Given the description of an element on the screen output the (x, y) to click on. 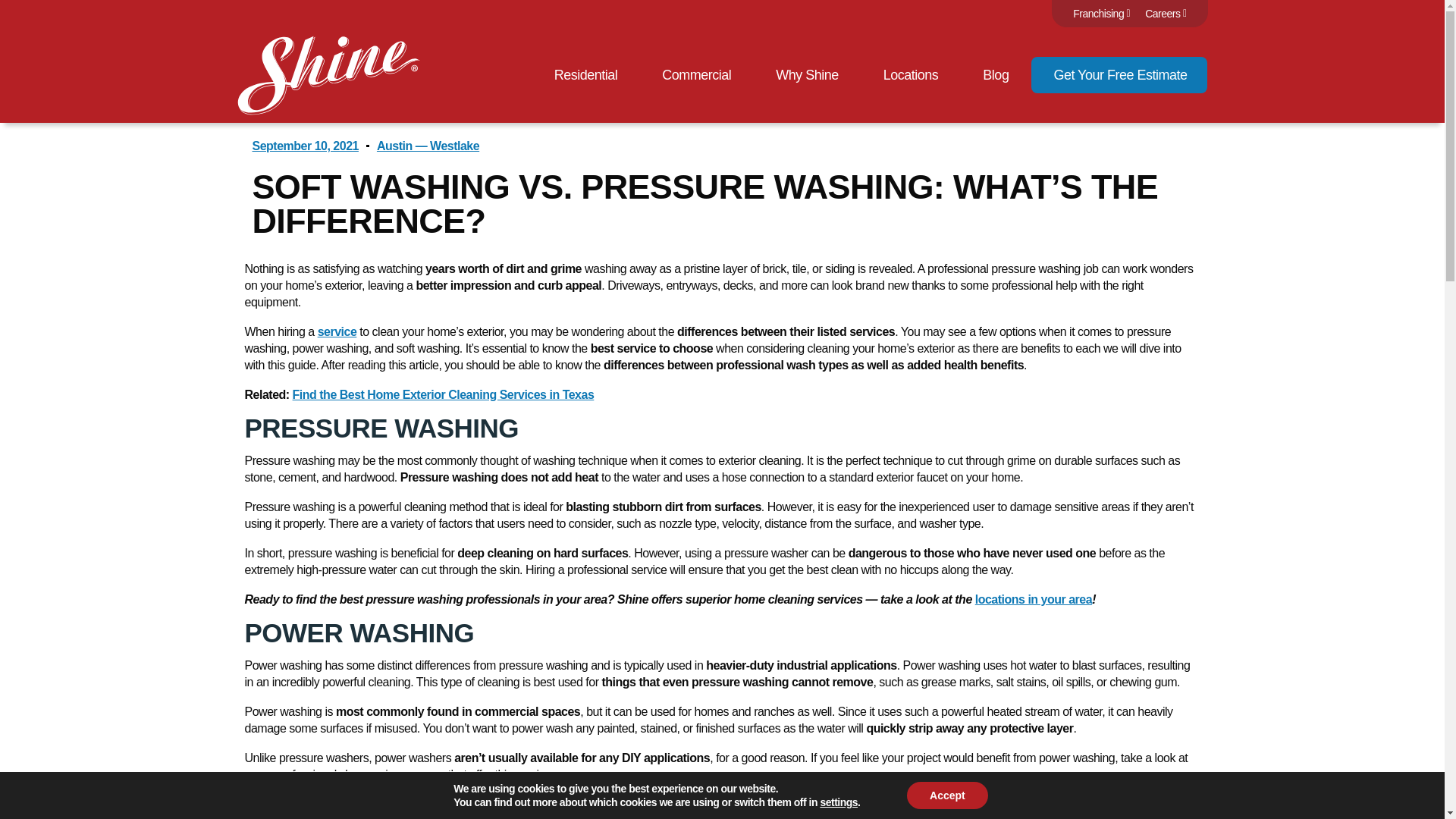
Locations (911, 74)
Get Your Free Estimate (1119, 74)
Why Shine (807, 74)
Blog (995, 74)
Residential (586, 74)
Franchising  (1101, 13)
Commercial (696, 74)
Careers  (1165, 13)
